Given the description of an element on the screen output the (x, y) to click on. 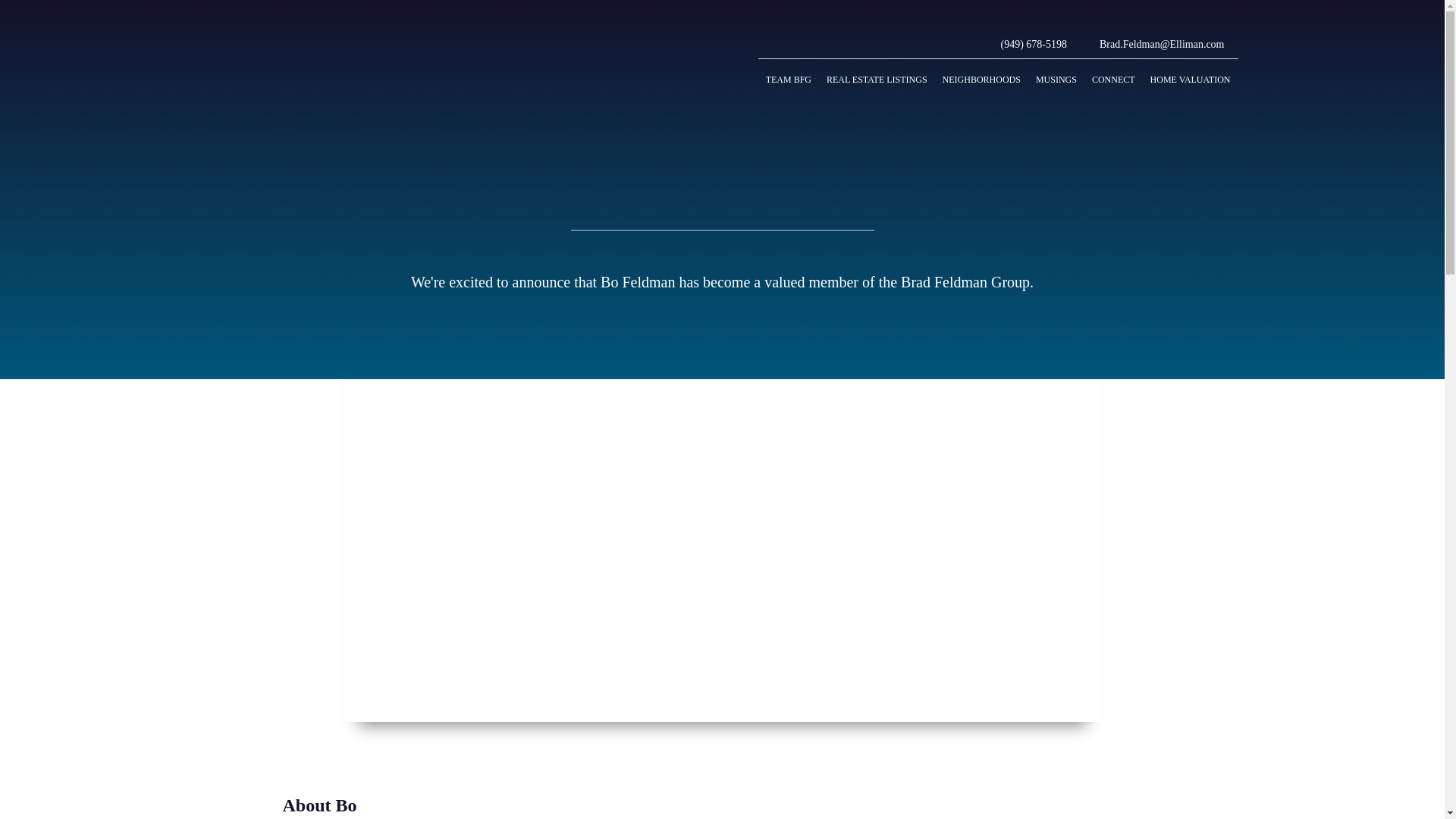
REAL ESTATE LISTINGS (876, 79)
TEAM BFG (788, 79)
MUSINGS (1055, 79)
CONNECT (1113, 79)
HOME VALUATION (1190, 79)
NEIGHBORHOODS (980, 79)
